Given the description of an element on the screen output the (x, y) to click on. 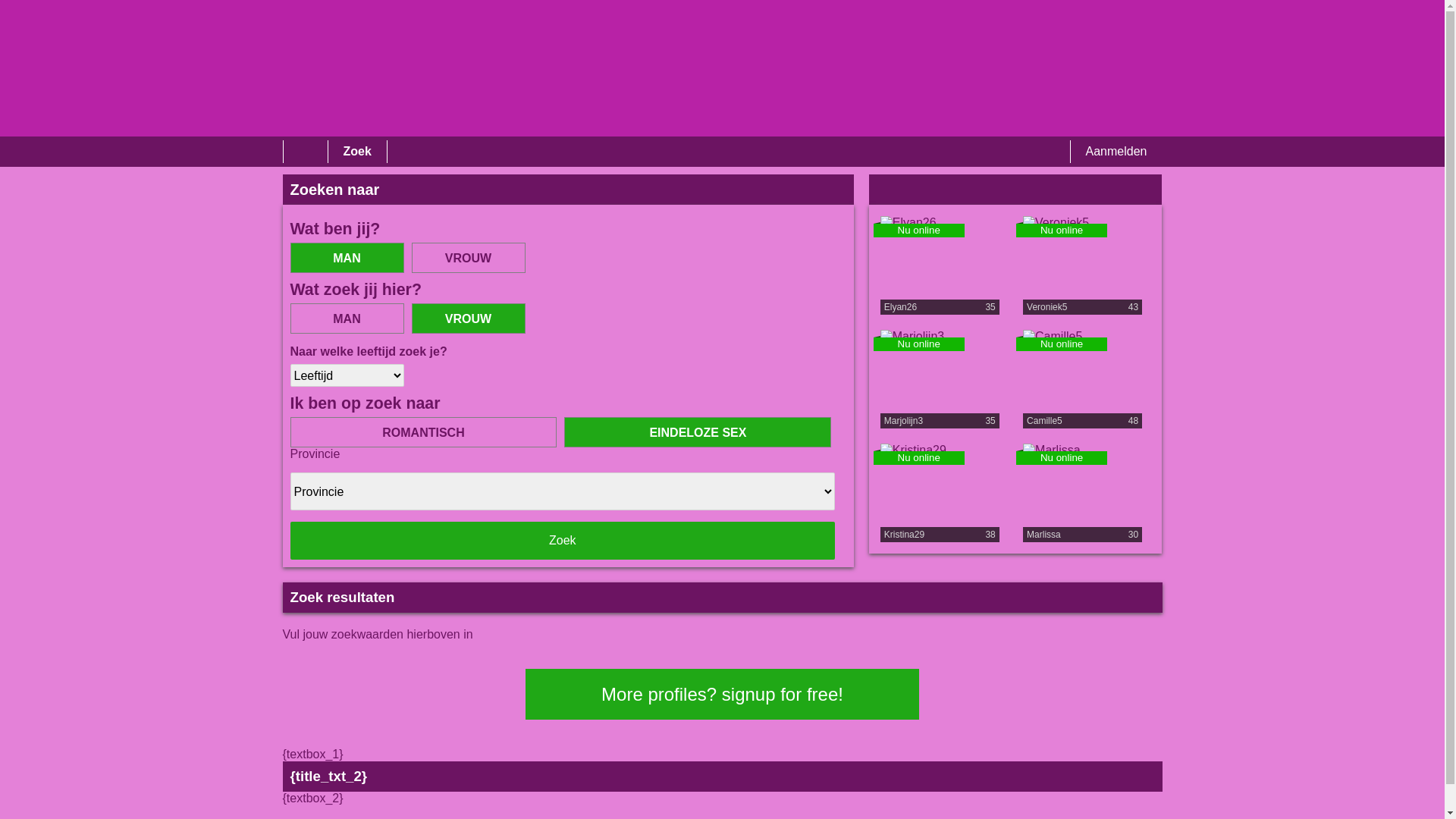
Zoek Element type: text (356, 151)
EINDELOZE SEX Element type: text (697, 432)
Zoek Element type: text (561, 540)
ROMANTISCH Element type: text (422, 432)
VROUW Element type: text (467, 318)
Nu online
Elyan26
35 Element type: text (943, 265)
Nu online
Kristina29
38 Element type: text (943, 492)
Nu online
Marjolijn3
35 Element type: text (943, 379)
MAN Element type: text (346, 257)
Nu online
Marlissa
30 Element type: text (1086, 492)
VROUW Element type: text (467, 257)
Nu online
Camille5
48 Element type: text (1086, 379)
Nu online
Veroniek5
43 Element type: text (1086, 265)
More profiles? signup for free! Element type: text (722, 693)
Aanmelden Element type: text (1116, 151)
MAN Element type: text (346, 318)
